Given the description of an element on the screen output the (x, y) to click on. 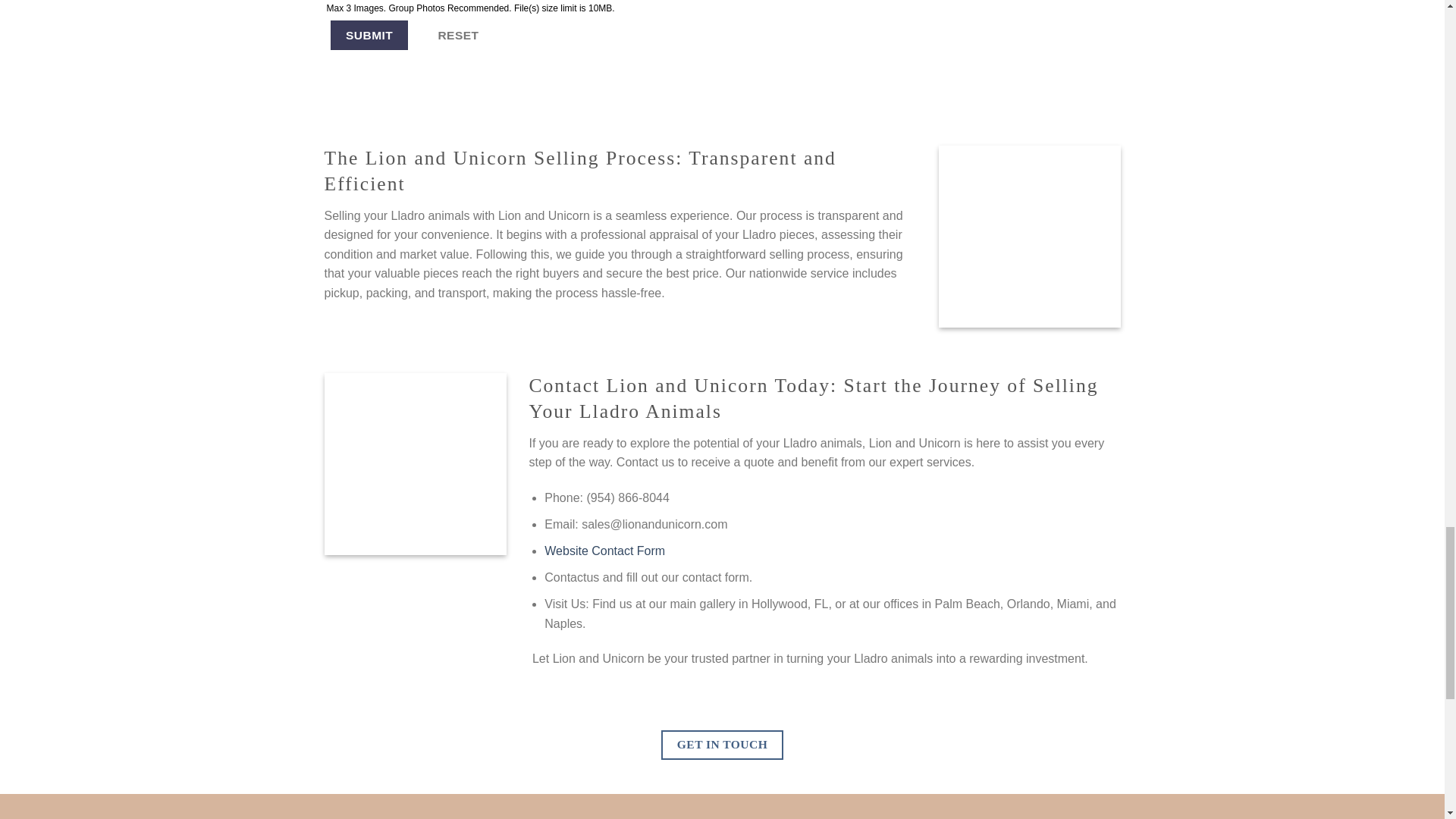
Submit (368, 34)
Reset (458, 34)
